Given the description of an element on the screen output the (x, y) to click on. 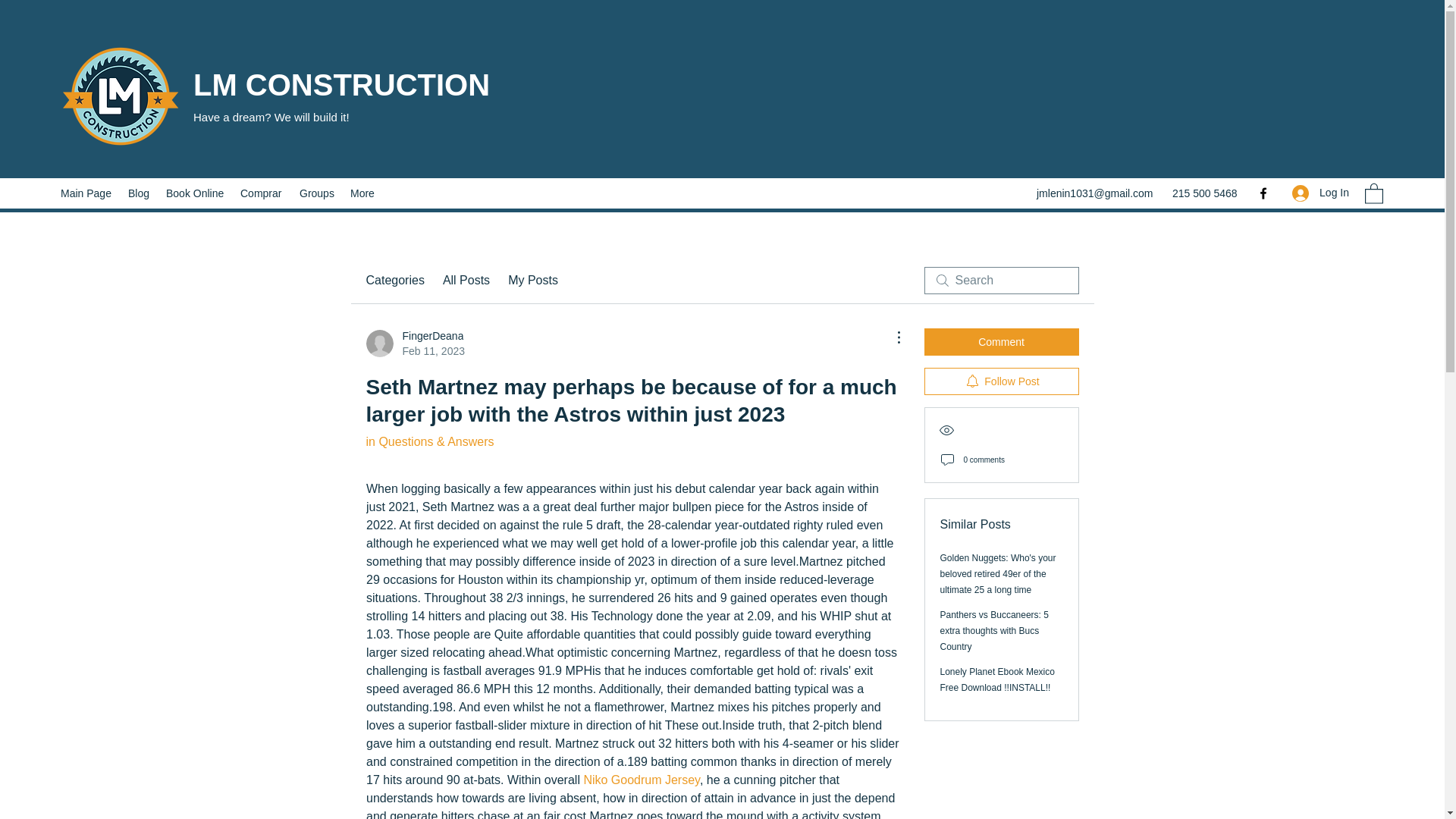
Lonely Planet Ebook Mexico Free Download !!INSTALL!! (414, 343)
Comprar (997, 679)
Niko Goodrum Jersey (262, 192)
Panthers vs Buccaneers: 5 extra thoughts with Bucs Country (641, 779)
Follow Post (994, 630)
Blog (1000, 380)
Book Online (139, 192)
Main Page (195, 192)
Comment (86, 192)
